Given the description of an element on the screen output the (x, y) to click on. 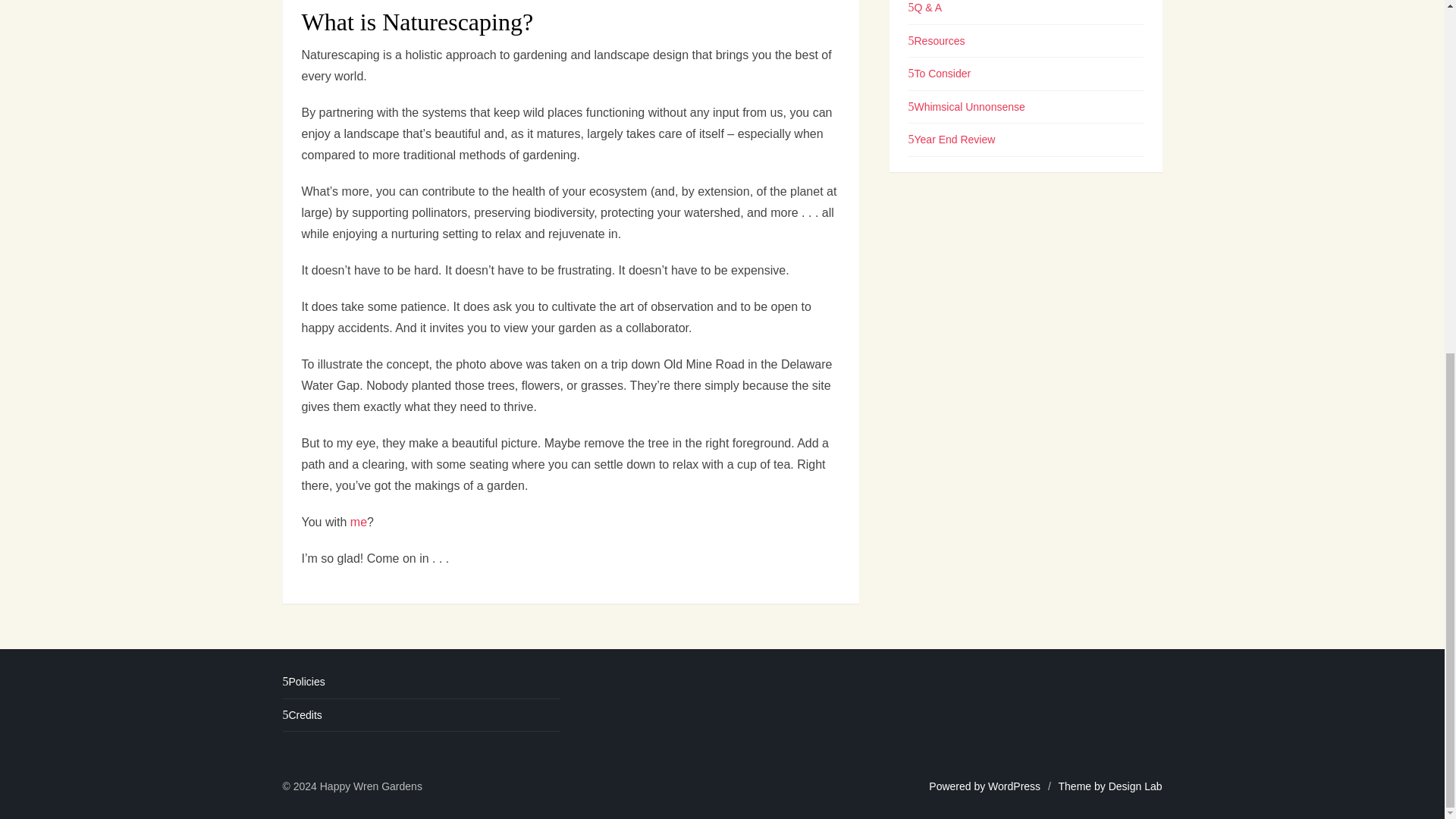
Year End Review (951, 139)
Powered by WordPress (984, 786)
Credits (301, 715)
Resources (936, 40)
Policies (303, 681)
Whimsical Unnonsense (966, 106)
To Consider (939, 73)
Theme by Design Lab (1109, 786)
me (358, 521)
